Given the description of an element on the screen output the (x, y) to click on. 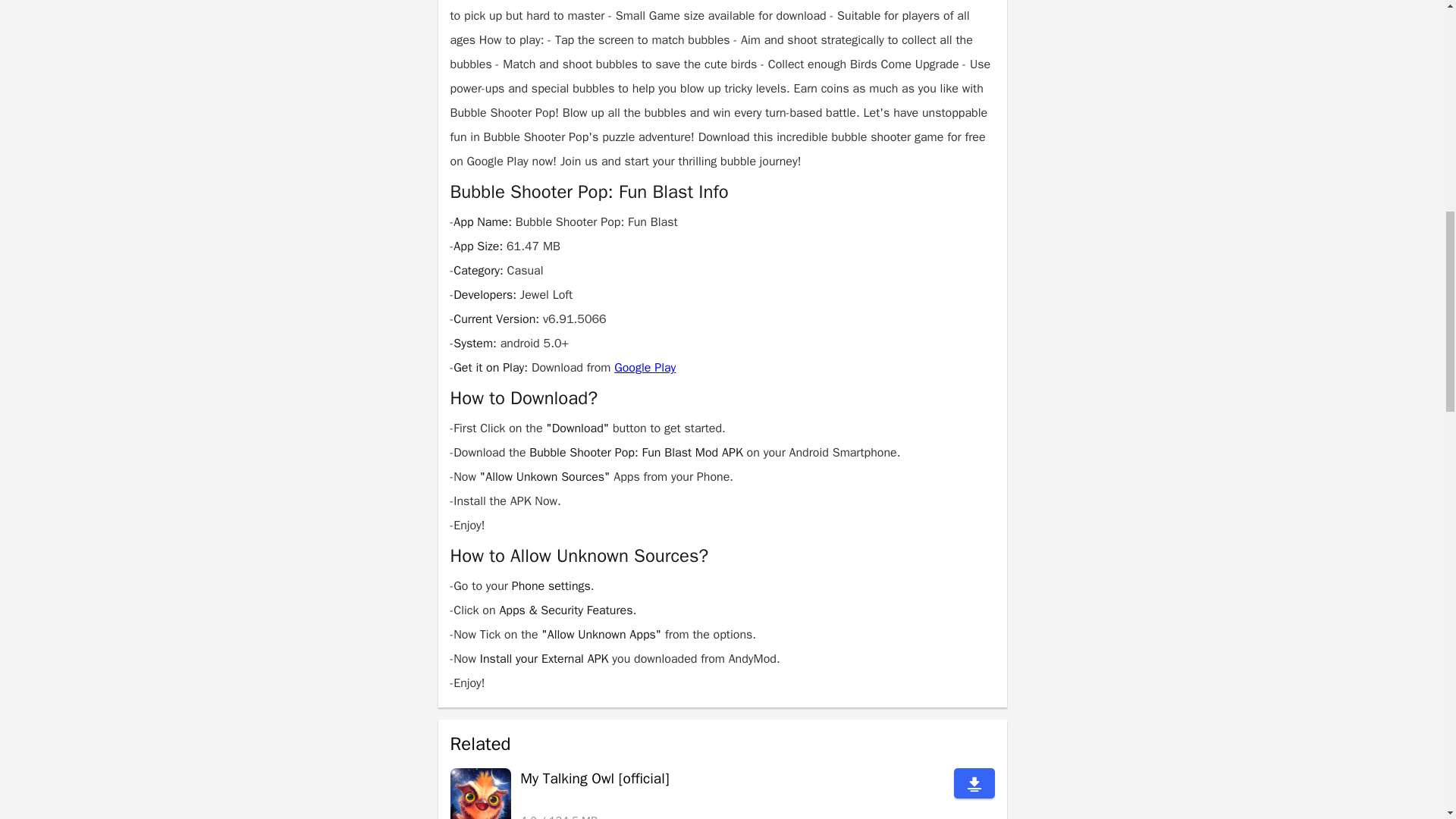
Google Play (644, 367)
